Given the description of an element on the screen output the (x, y) to click on. 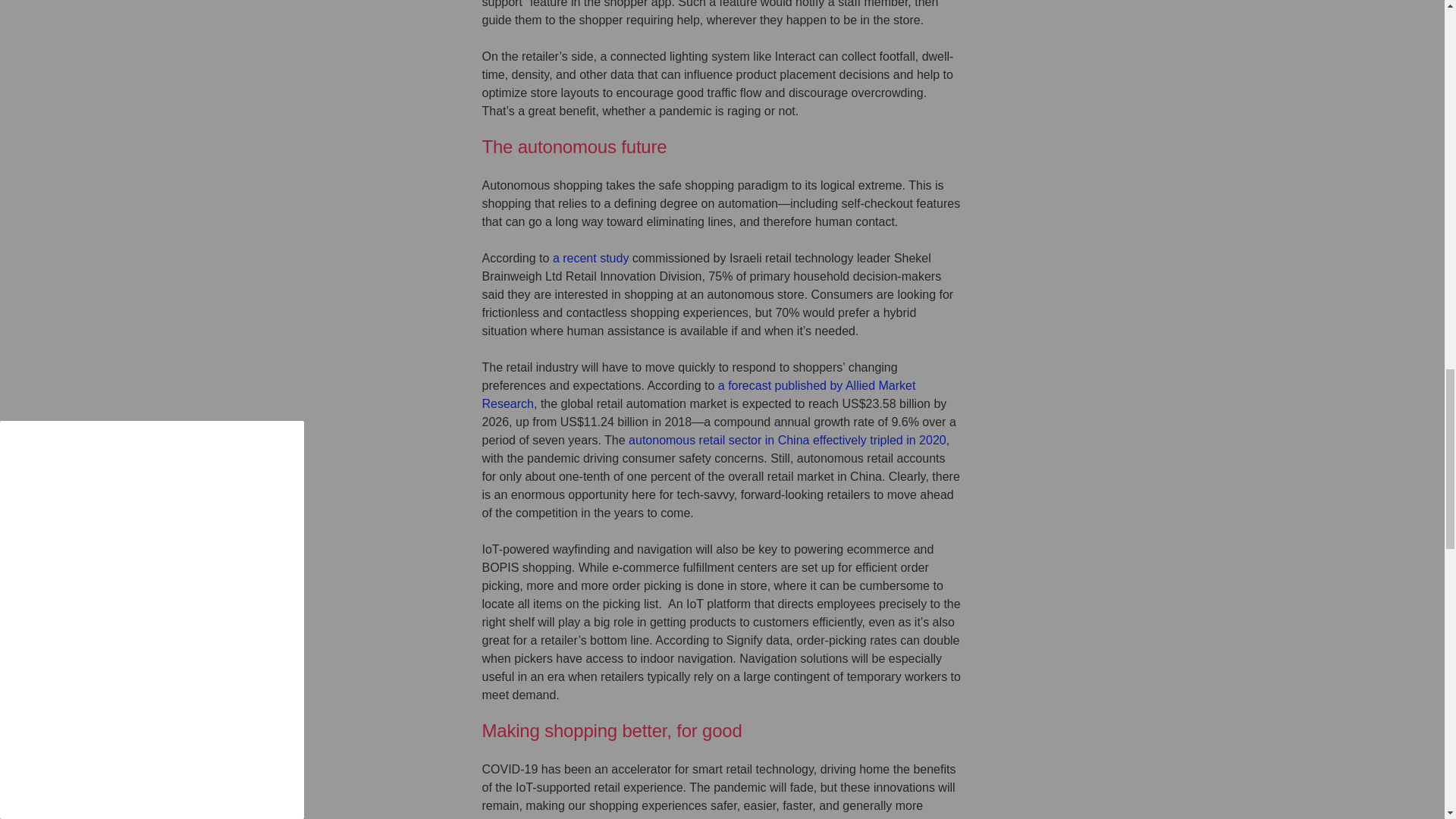
a forecast published by Allied Market Research (698, 394)
a recent study (590, 257)
